Given the description of an element on the screen output the (x, y) to click on. 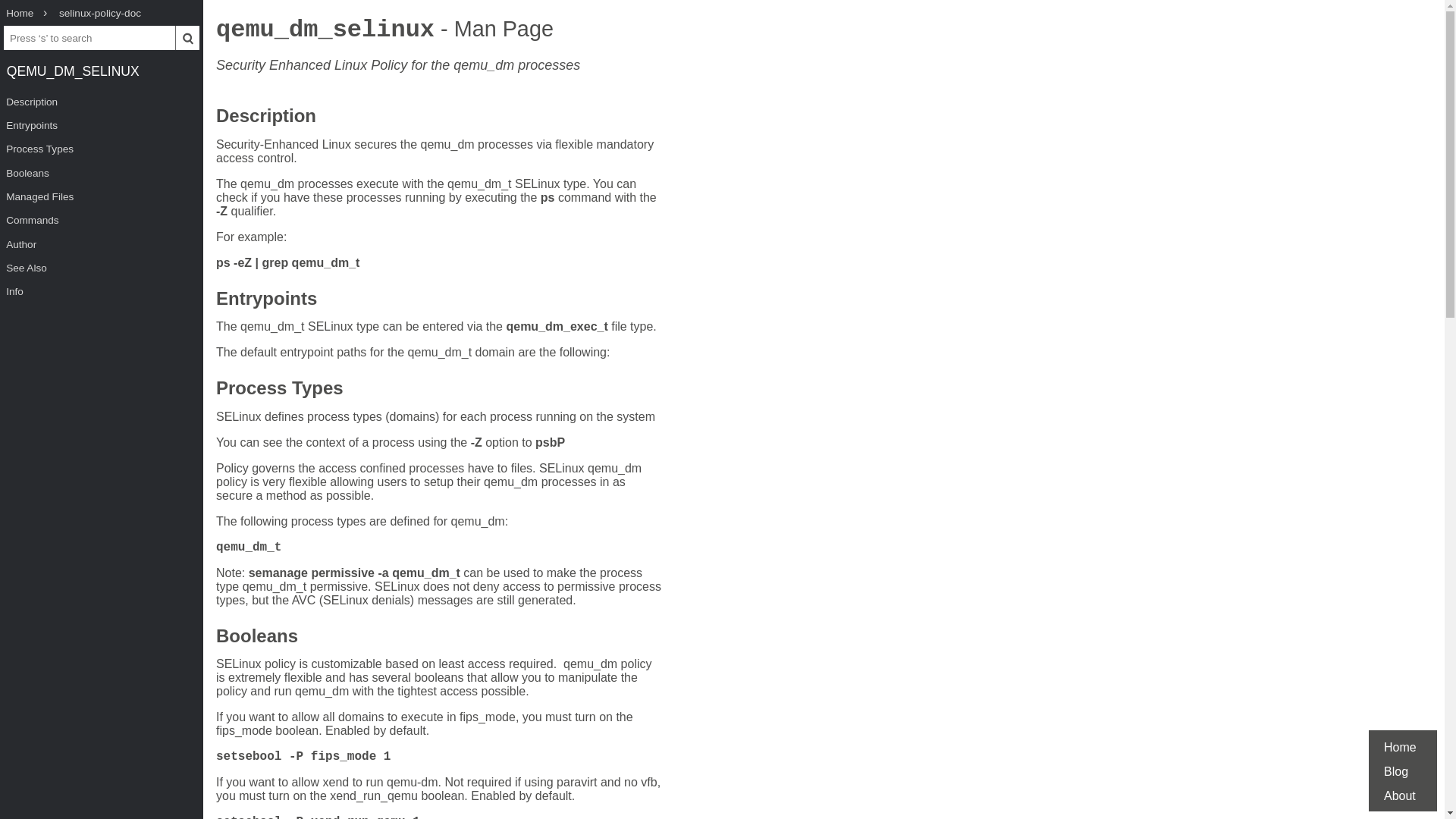
Booleans (101, 173)
Entrypoints (101, 125)
Entrypoints (266, 300)
Blog (1395, 771)
Description (265, 117)
Commands (101, 219)
About (1399, 795)
Managed Files (101, 196)
Home (1400, 747)
See Also (101, 268)
